Given the description of an element on the screen output the (x, y) to click on. 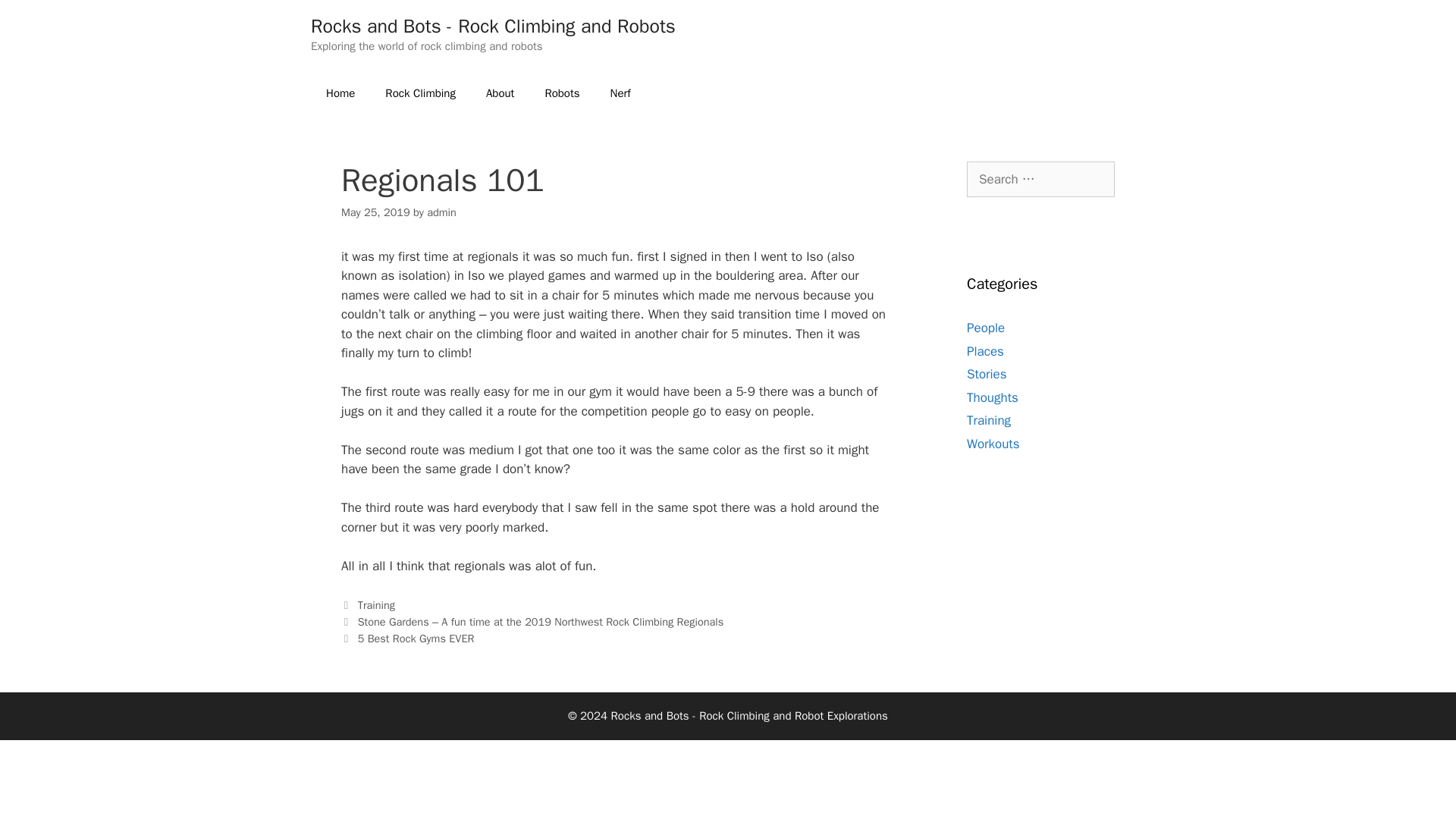
Search (35, 18)
People (985, 327)
View all posts by admin (441, 212)
Places (985, 350)
Training (988, 420)
Search for: (1040, 178)
5 Best Rock Gyms EVER (416, 638)
Workouts (993, 442)
Home (340, 92)
Thoughts (991, 397)
Nerf (620, 92)
About (499, 92)
Stories (986, 374)
Rock Climbing (419, 92)
admin (441, 212)
